Given the description of an element on the screen output the (x, y) to click on. 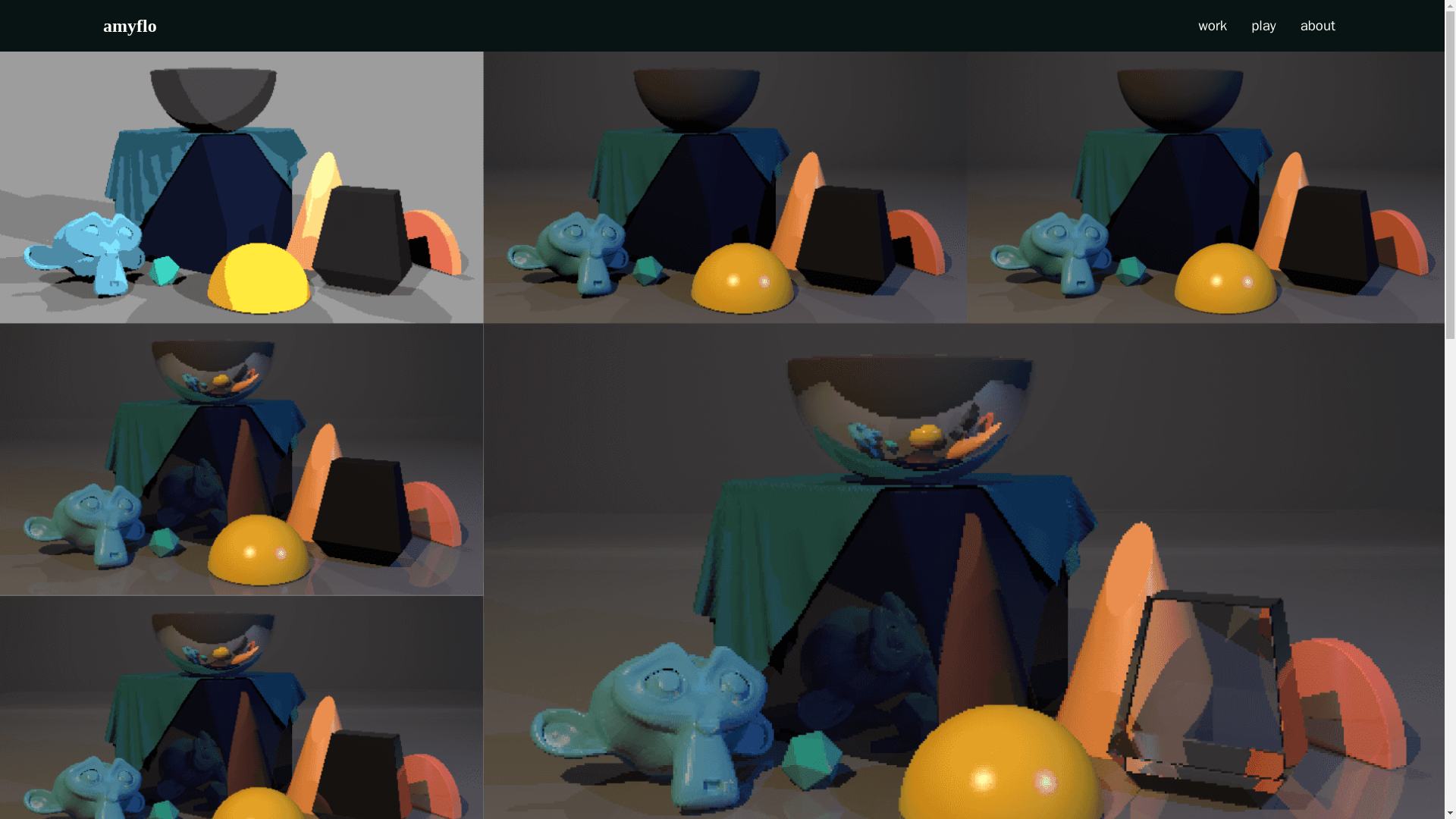
about (1318, 25)
work (1212, 25)
play (1263, 25)
amyflo (130, 25)
